Given the description of an element on the screen output the (x, y) to click on. 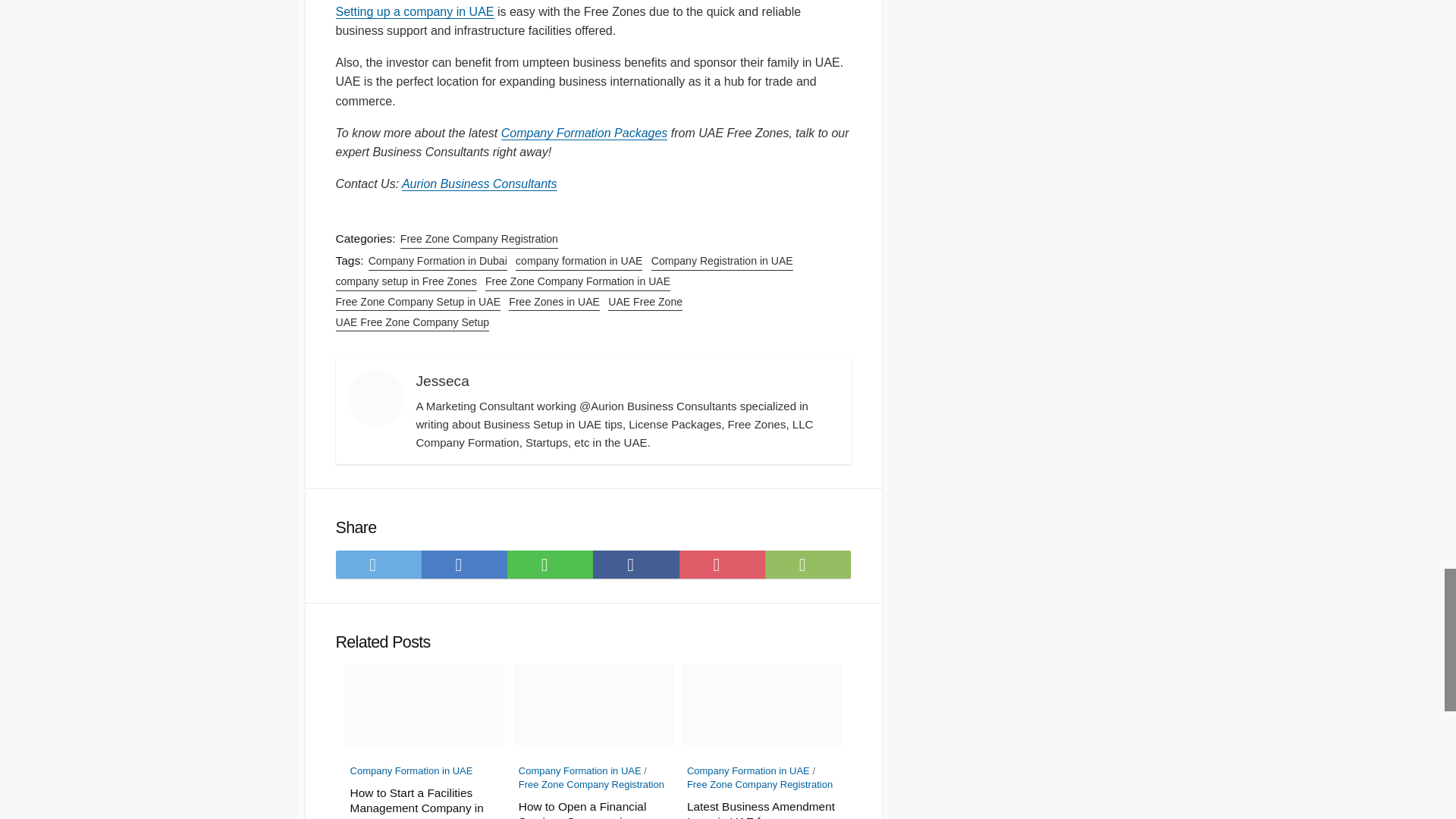
Free Zone Company Registration (478, 239)
Company Formation Packages (584, 132)
Company Formation in Dubai (437, 261)
company setup in Free Zones (405, 281)
Aurion Business Consultants (479, 183)
Free Zones in UAE (553, 302)
Company Registration in UAE (721, 261)
UAE Free Zone (645, 302)
Free Zone Company Setup in UAE (417, 302)
Free Zone Company Formation in UAE (576, 281)
